Given the description of an element on the screen output the (x, y) to click on. 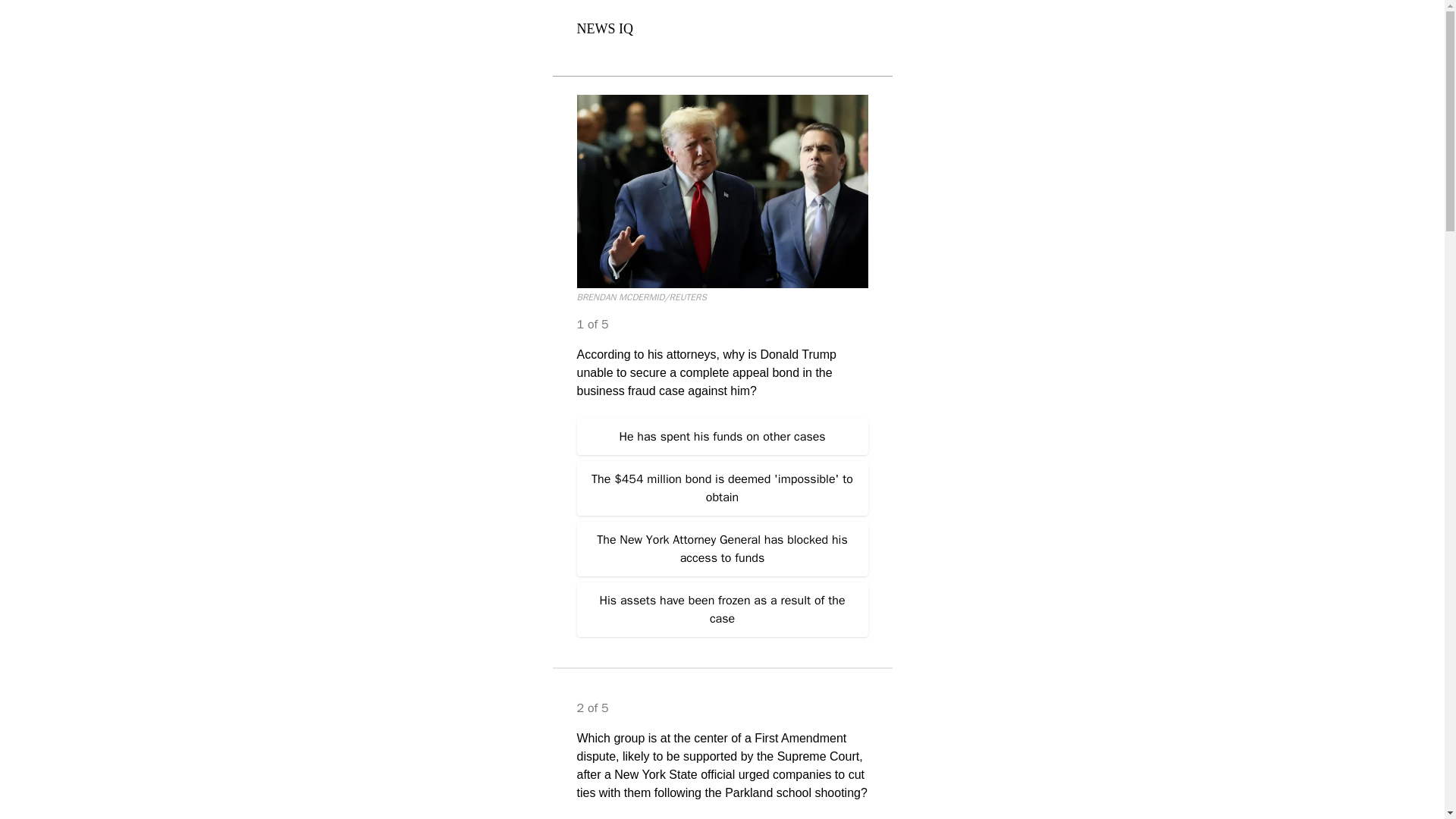
He has spent his funds on other cases (721, 436)
NEWS IQ (604, 28)
His assets have been frozen as a result of the case (721, 609)
